Given the description of an element on the screen output the (x, y) to click on. 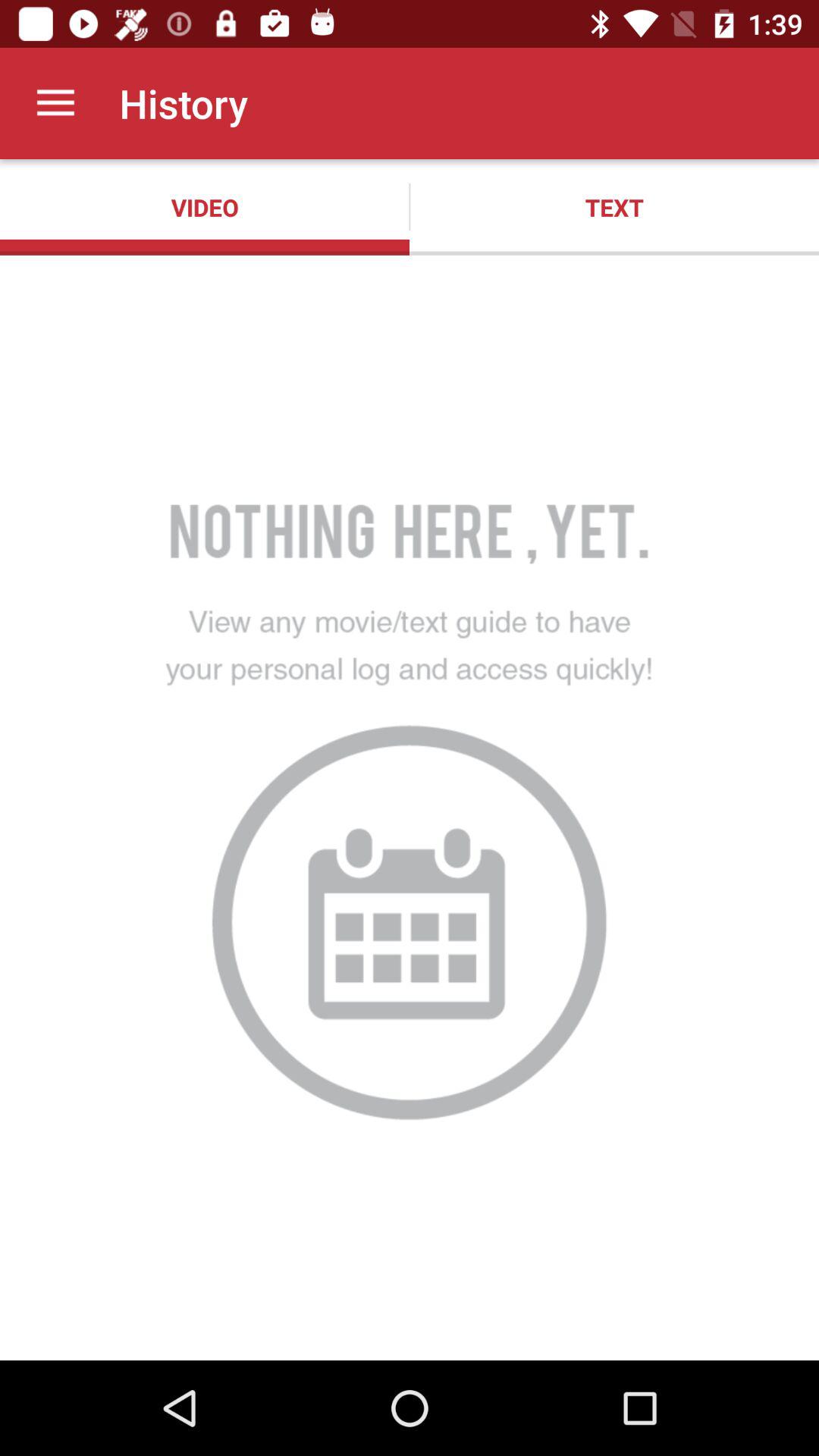
scroll to video (204, 207)
